Given the description of an element on the screen output the (x, y) to click on. 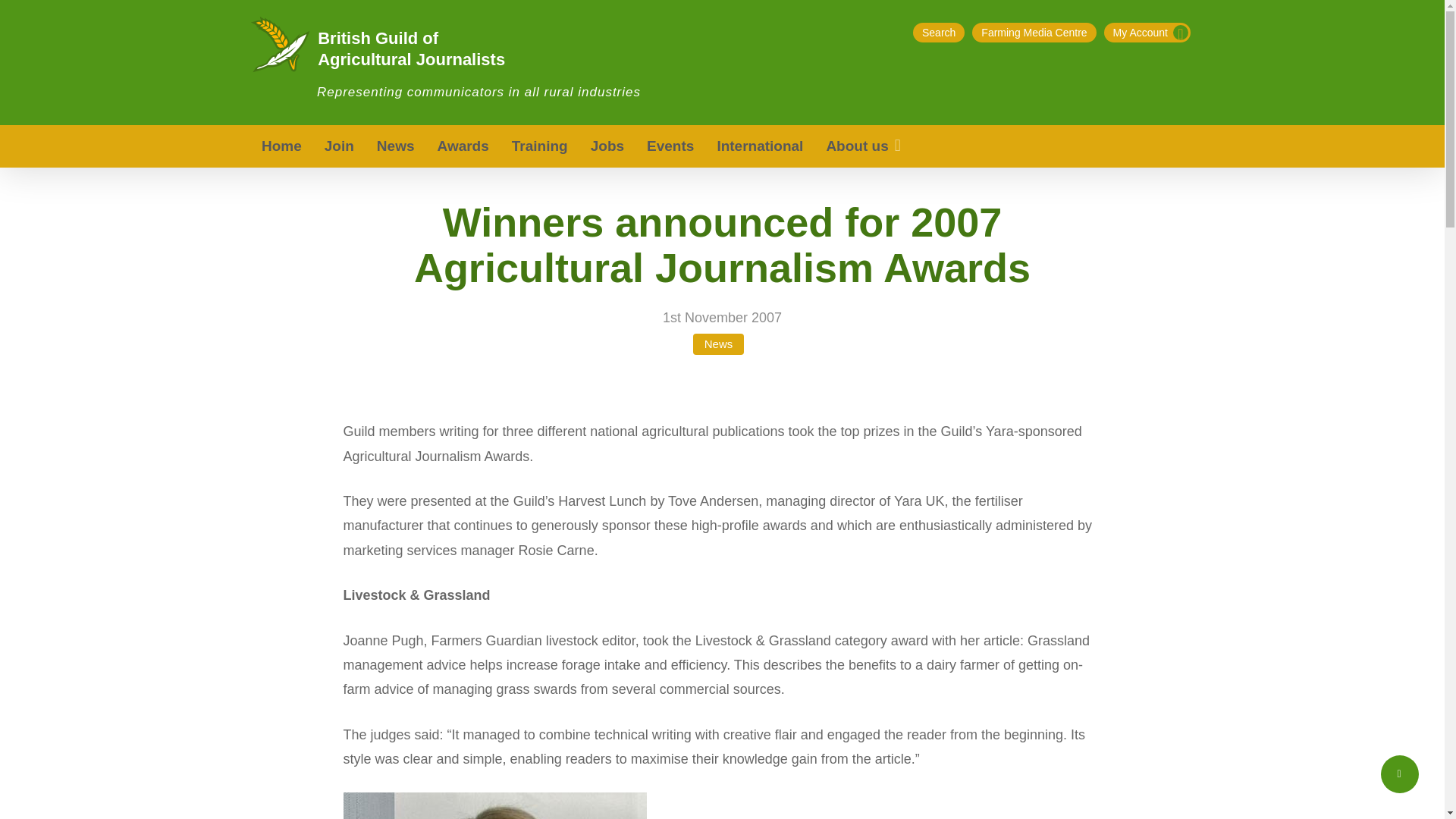
Join (339, 146)
Search (937, 32)
Jobs (606, 146)
Events (669, 146)
International (758, 146)
My Account (1147, 32)
Home (281, 146)
Farming Media Centre (1034, 32)
News (395, 146)
Awards (463, 146)
